Given the description of an element on the screen output the (x, y) to click on. 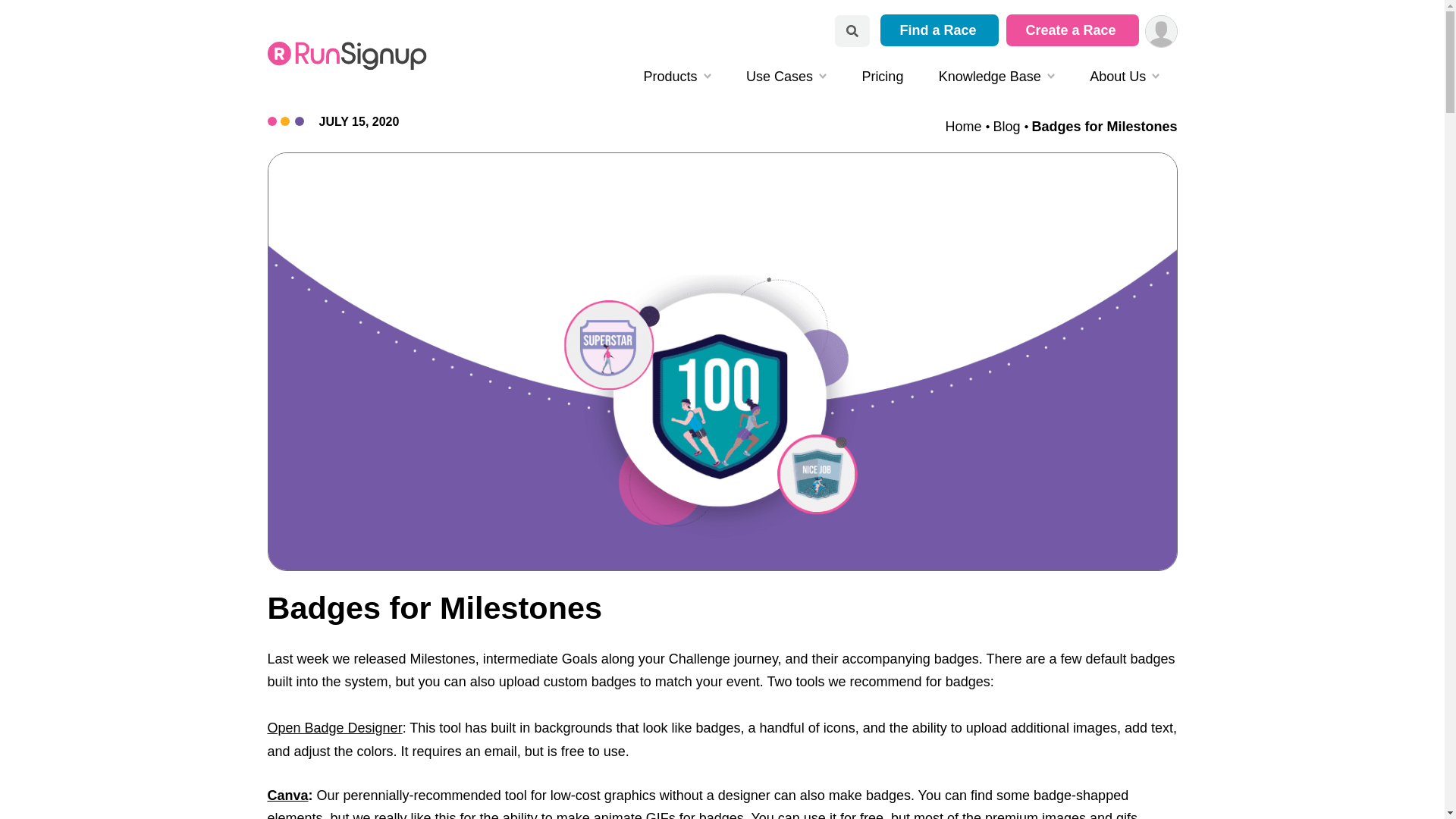
Search (851, 30)
Search (851, 30)
Products (676, 76)
Find a Race (939, 29)
Knowledge Base (996, 76)
Use Cases (786, 76)
Pricing (882, 76)
Create a Race (1072, 29)
